Given the description of an element on the screen output the (x, y) to click on. 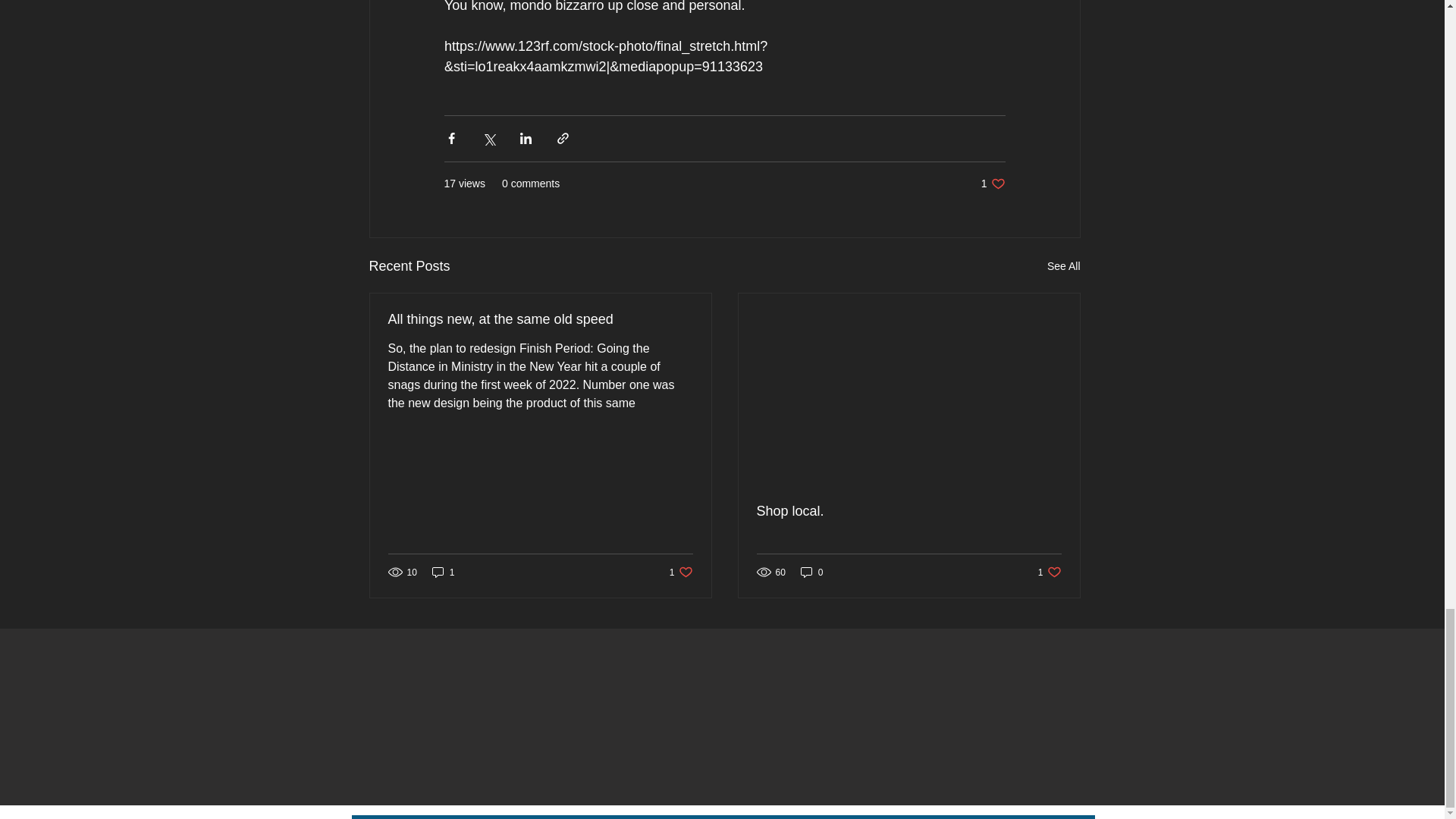
All things new, at the same old speed (993, 183)
1 (540, 319)
See All (443, 572)
0 (681, 572)
Shop local. (1049, 572)
